Given the description of an element on the screen output the (x, y) to click on. 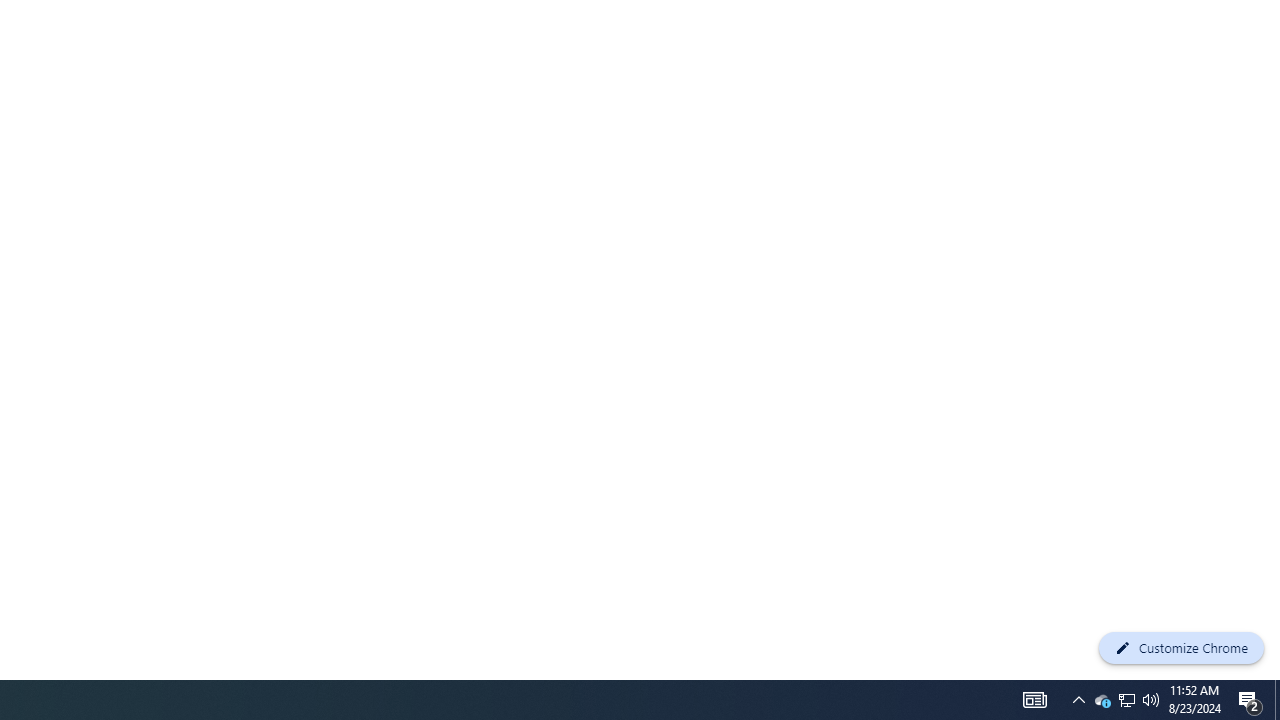
Customize Chrome (1181, 647)
